Given the description of an element on the screen output the (x, y) to click on. 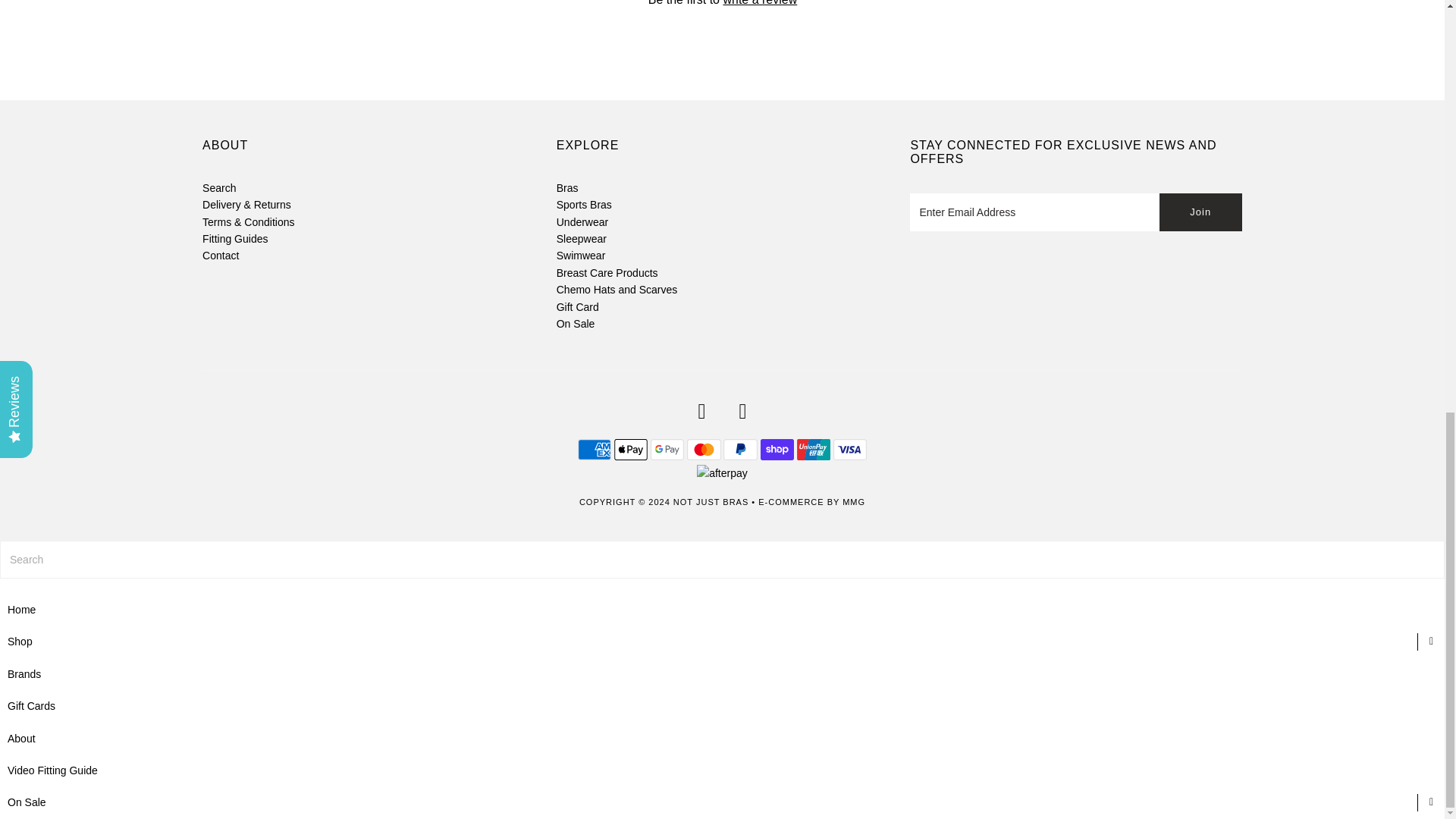
Product reviews widget (721, 31)
Join (1199, 211)
